Given the description of an element on the screen output the (x, y) to click on. 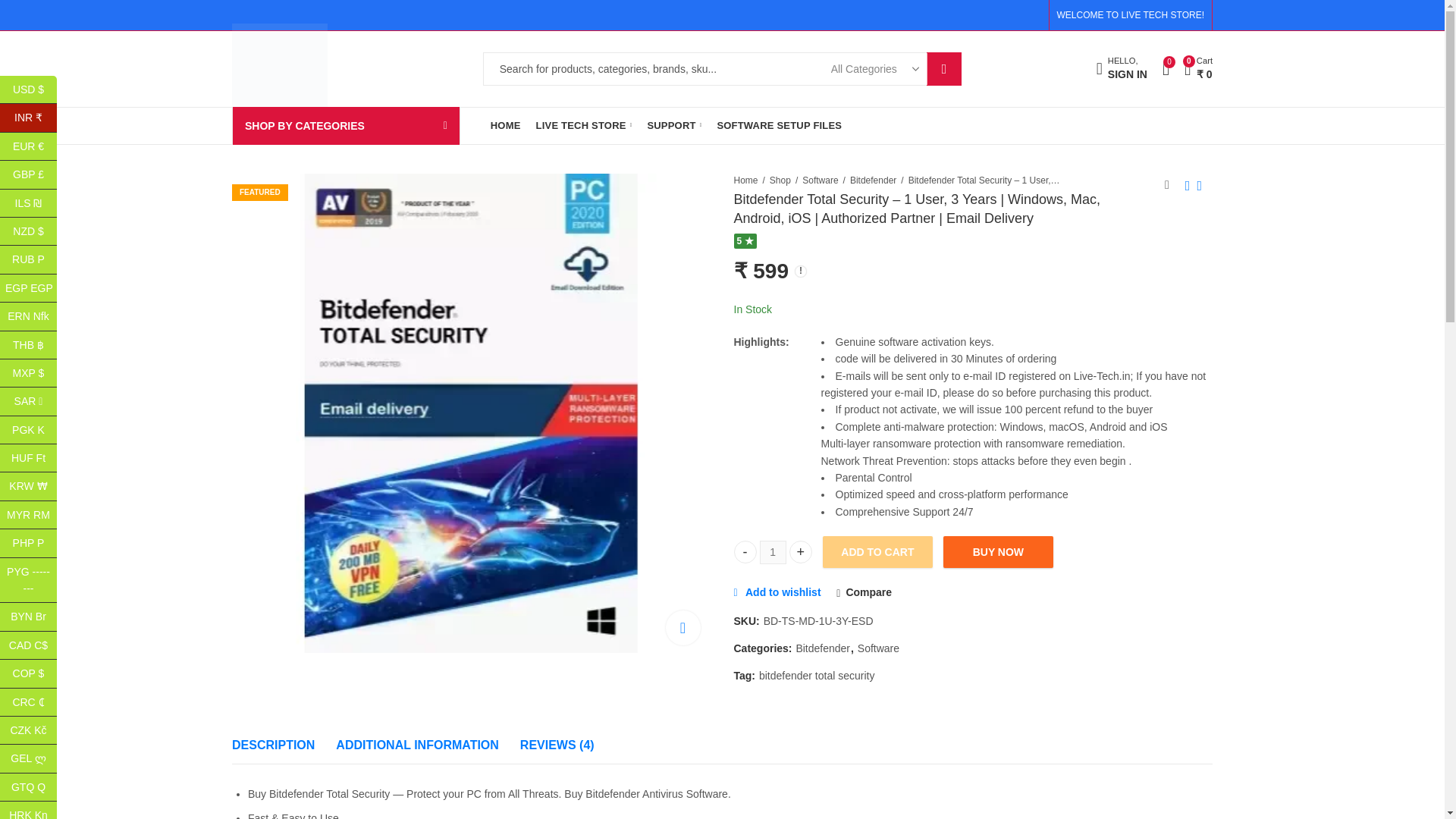
SEARCH (944, 68)
HOME (505, 125)
1 (773, 552)
SOFTWARE SETUP FILES (778, 125)
LIVE TECH STORE (584, 125)
SUPPORT (674, 125)
- (1121, 69)
